Given the description of an element on the screen output the (x, y) to click on. 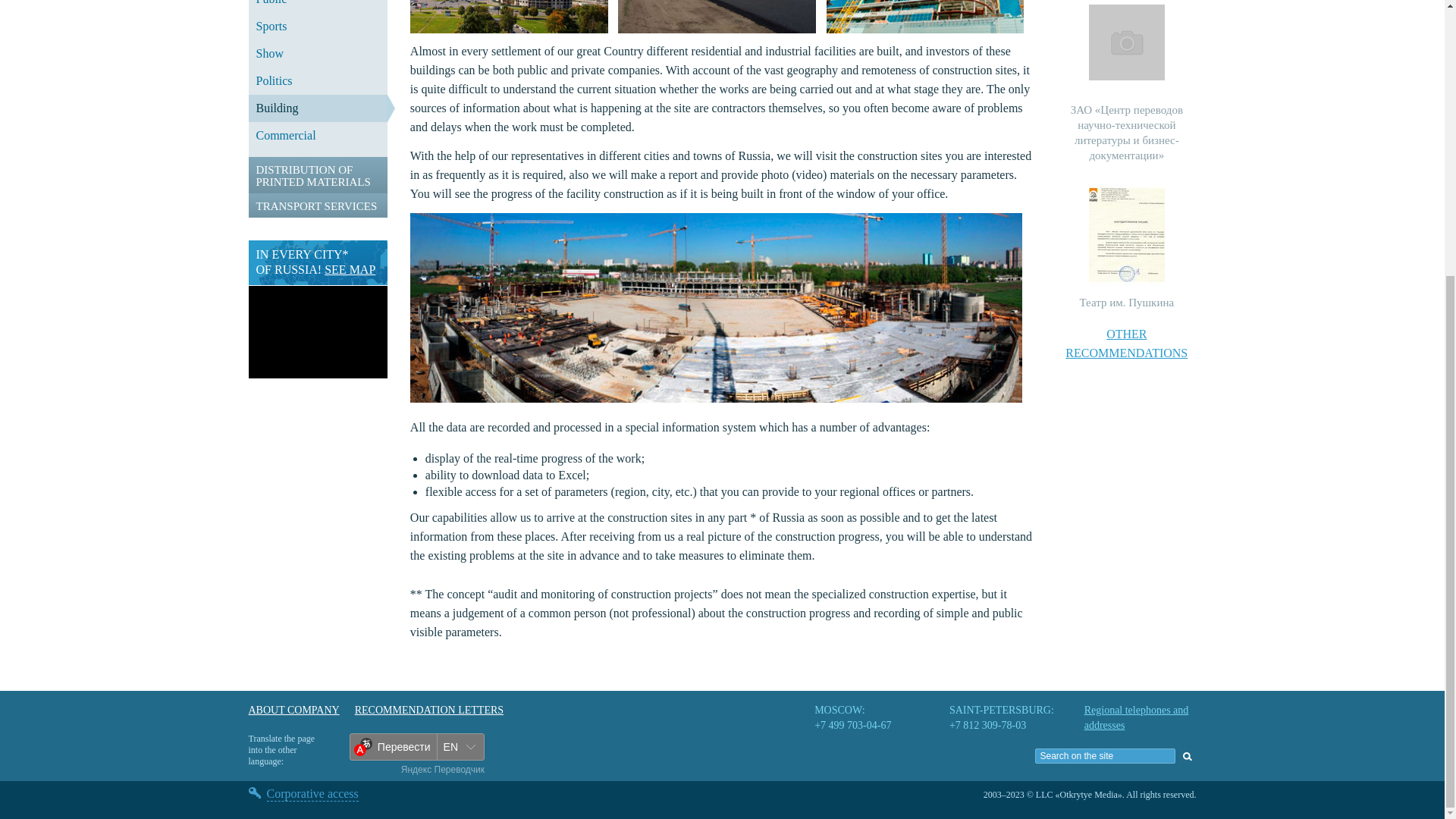
Search on the site (1104, 755)
